Given the description of an element on the screen output the (x, y) to click on. 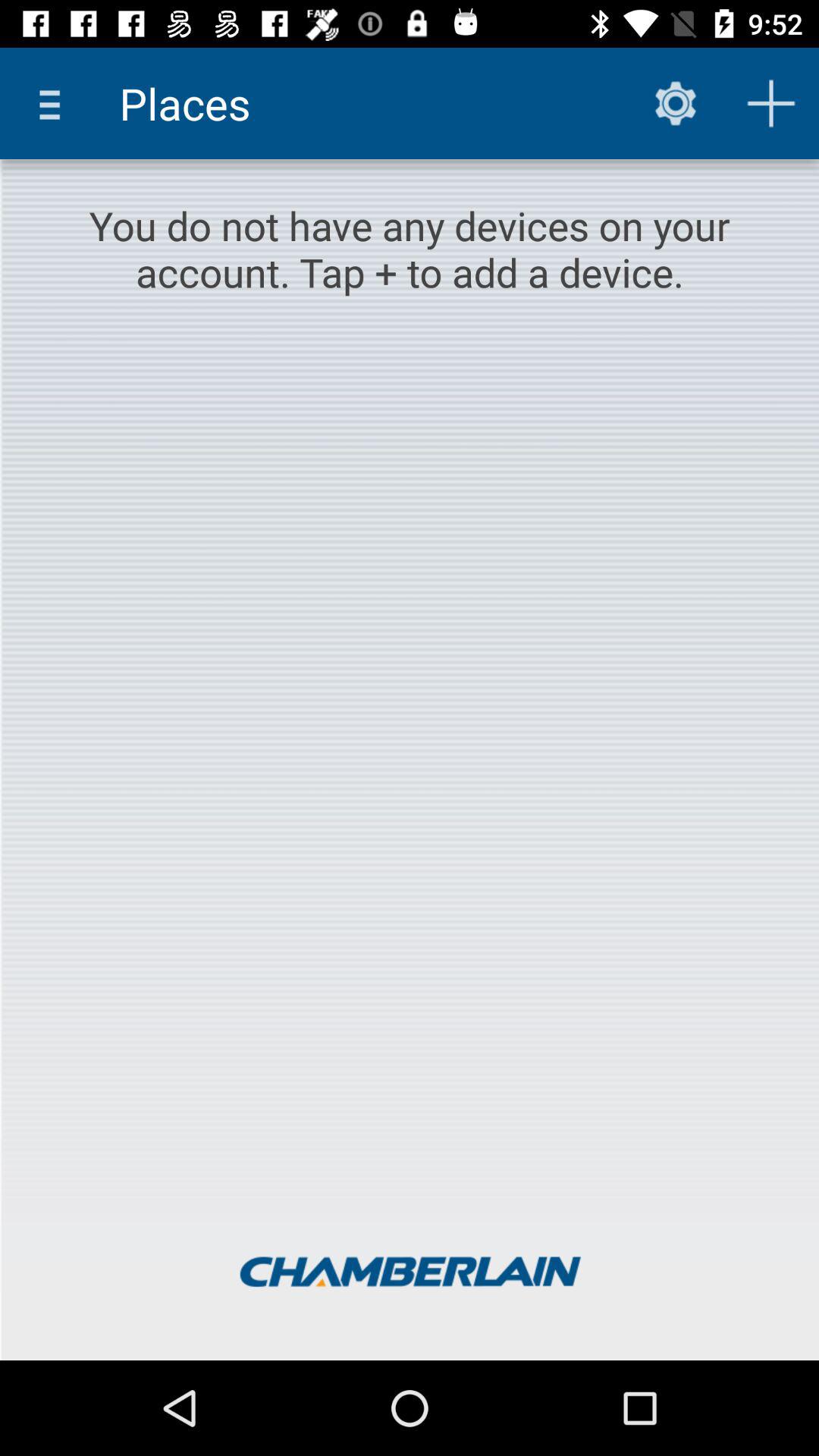
select item to the right of places (675, 103)
